Given the description of an element on the screen output the (x, y) to click on. 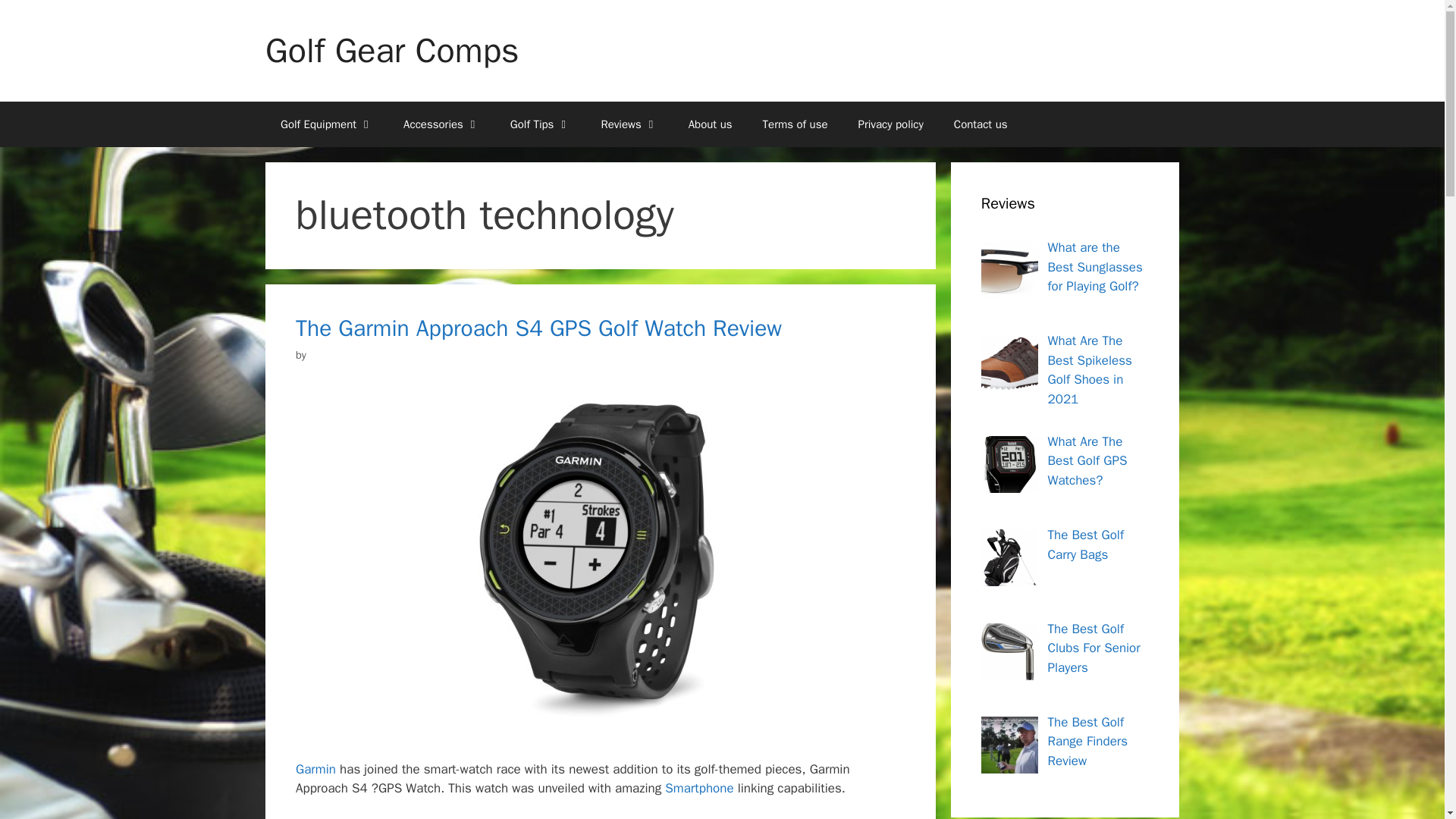
Privacy policy (891, 124)
Contact us (981, 124)
Garmin (315, 769)
Reviews (628, 124)
Terms of use (795, 124)
The Garmin Approach S4 GPS Golf Watch Review (538, 328)
Golf Tips (540, 124)
Accessories (441, 124)
Golf Equipment (326, 124)
Smartphone (699, 788)
Golf Gear Comps (391, 50)
About us (710, 124)
